Given the description of an element on the screen output the (x, y) to click on. 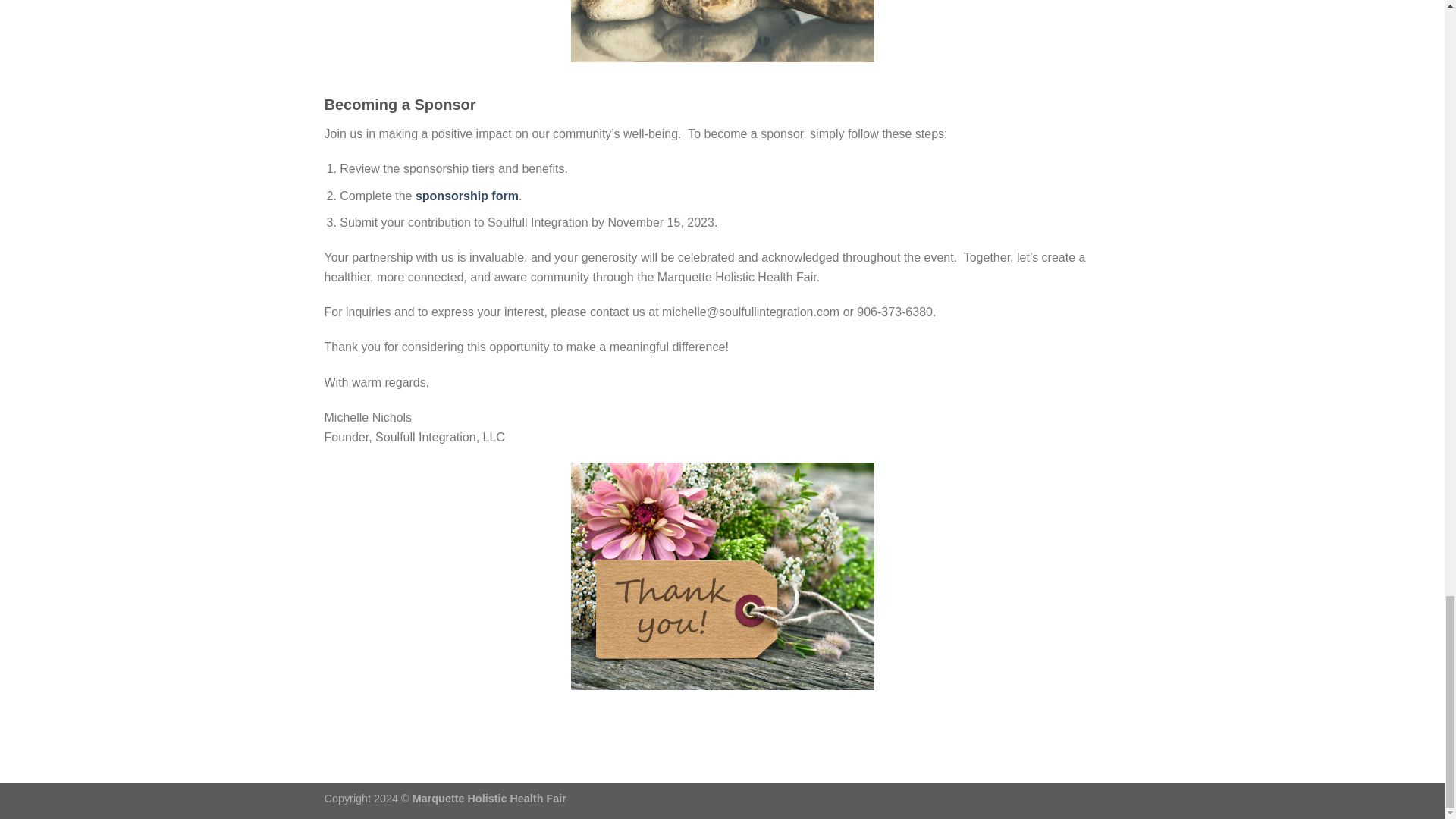
sponsorship form (466, 195)
